Given the description of an element on the screen output the (x, y) to click on. 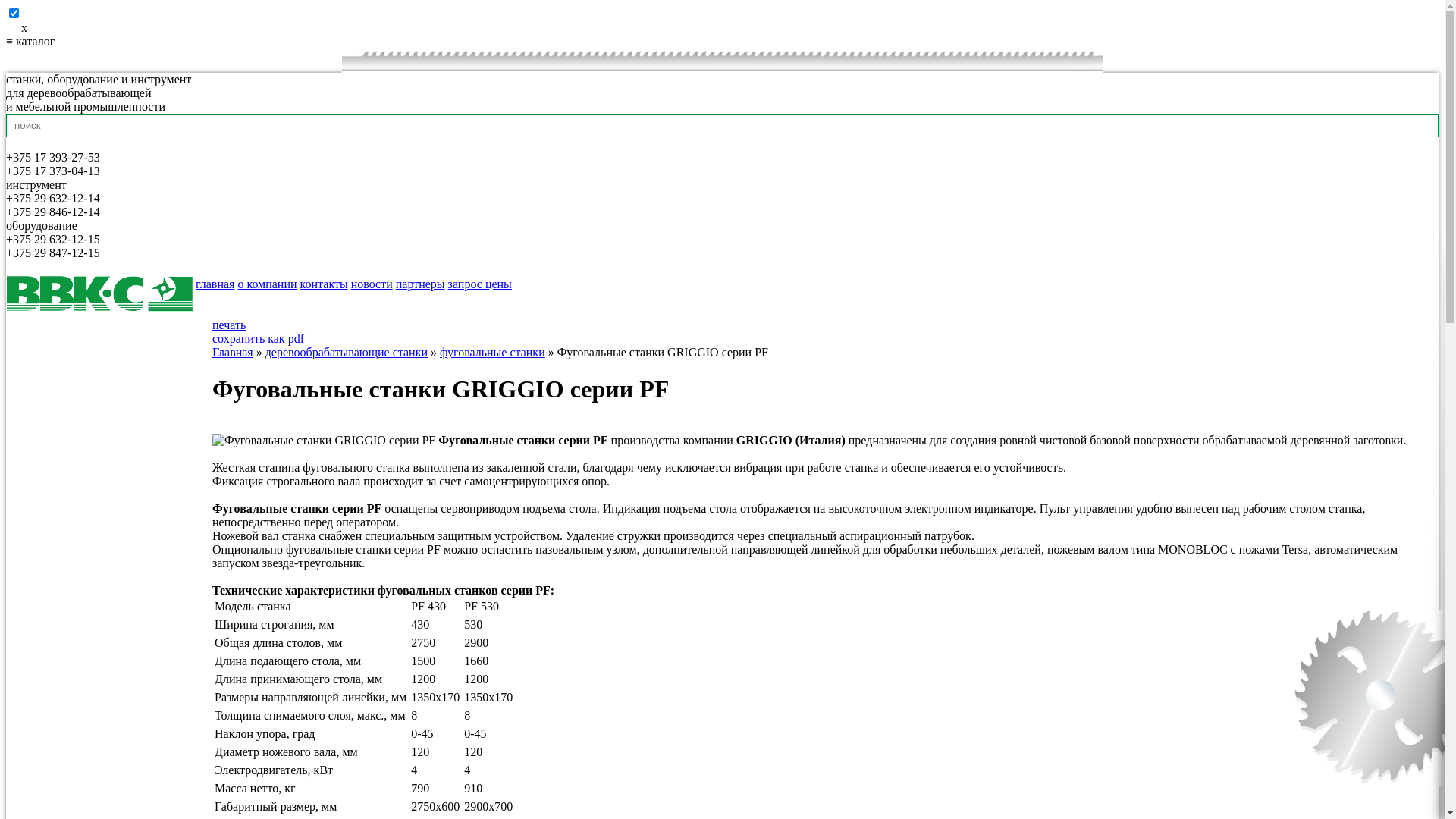
x Element type: text (722, 27)
